Given the description of an element on the screen output the (x, y) to click on. 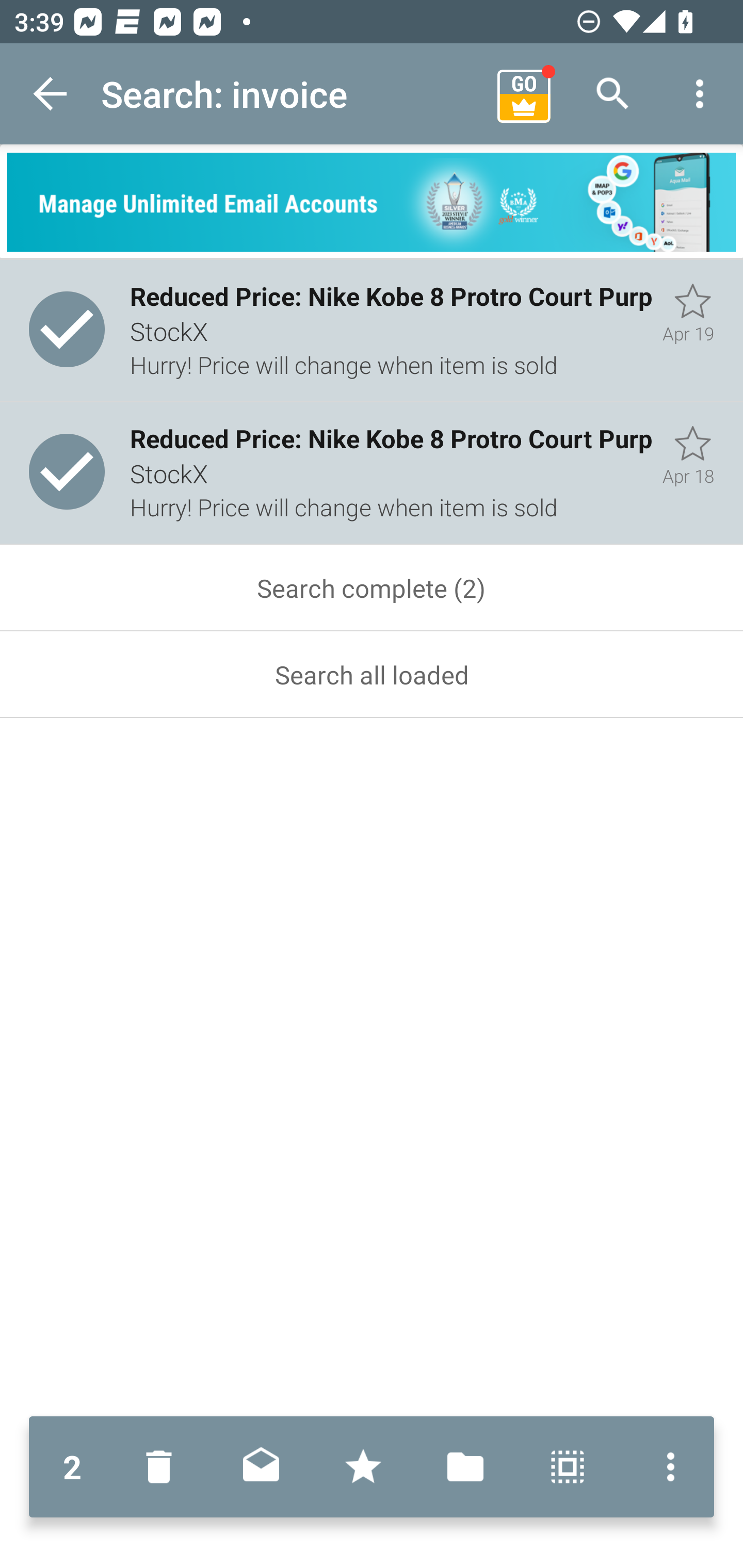
Navigate up (50, 93)
Search (612, 93)
More options (699, 93)
Search complete (2) (371, 587)
Search all loaded (371, 674)
2 2 messages (71, 1466)
Move to Deleted (162, 1466)
Mark read (261, 1466)
Mark with stars (363, 1466)
Move to folder… (465, 1466)
Select all (567, 1466)
More options (666, 1466)
